Given the description of an element on the screen output the (x, y) to click on. 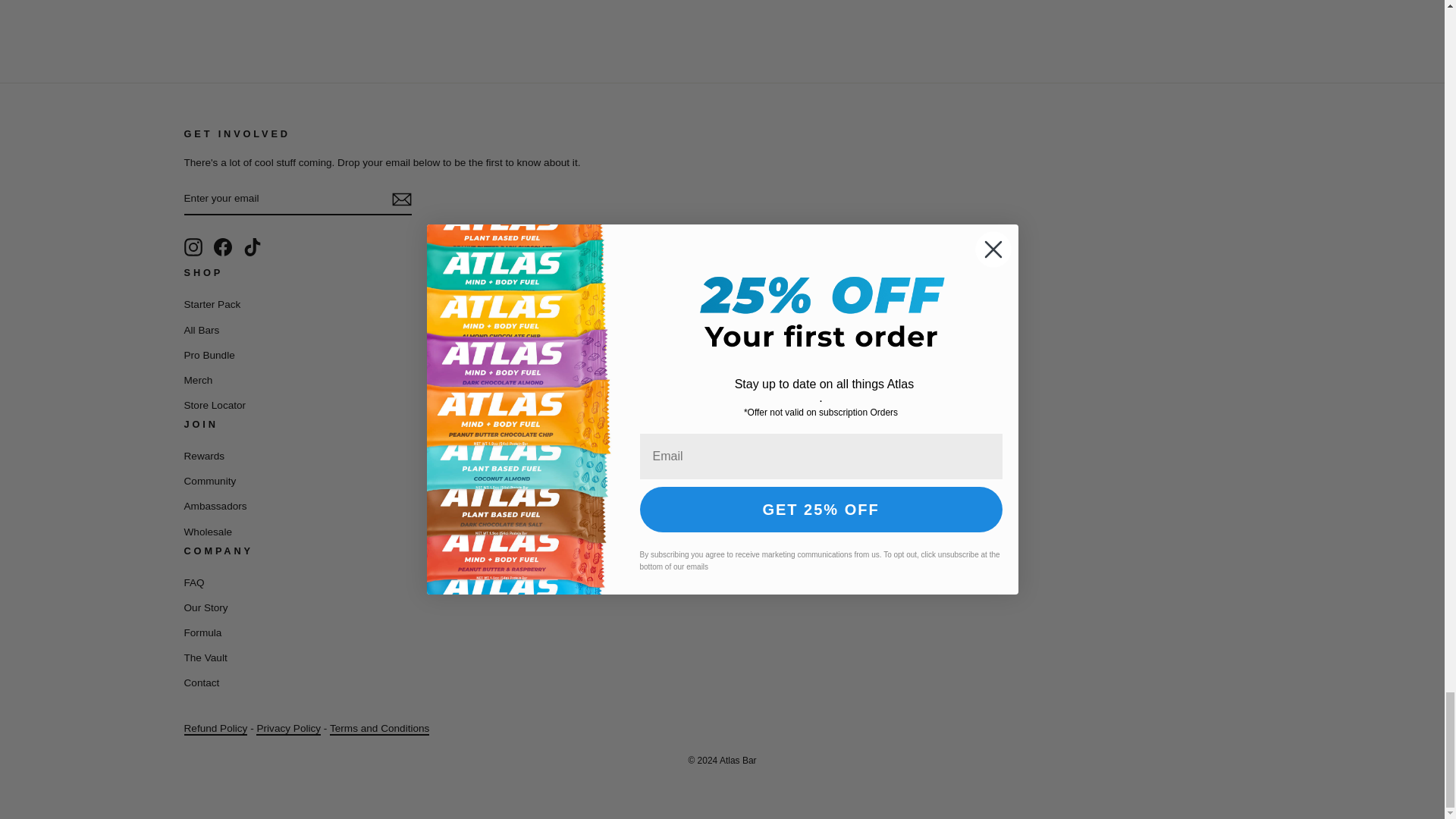
Atlas Bar on TikTok (251, 247)
Privacy Policy (288, 728)
Refund Policy (215, 728)
Terms of Service (379, 728)
Atlas Bar on Facebook (222, 247)
Atlas Bar on Instagram (192, 247)
instagram (192, 247)
icon-email (400, 199)
